Given the description of an element on the screen output the (x, y) to click on. 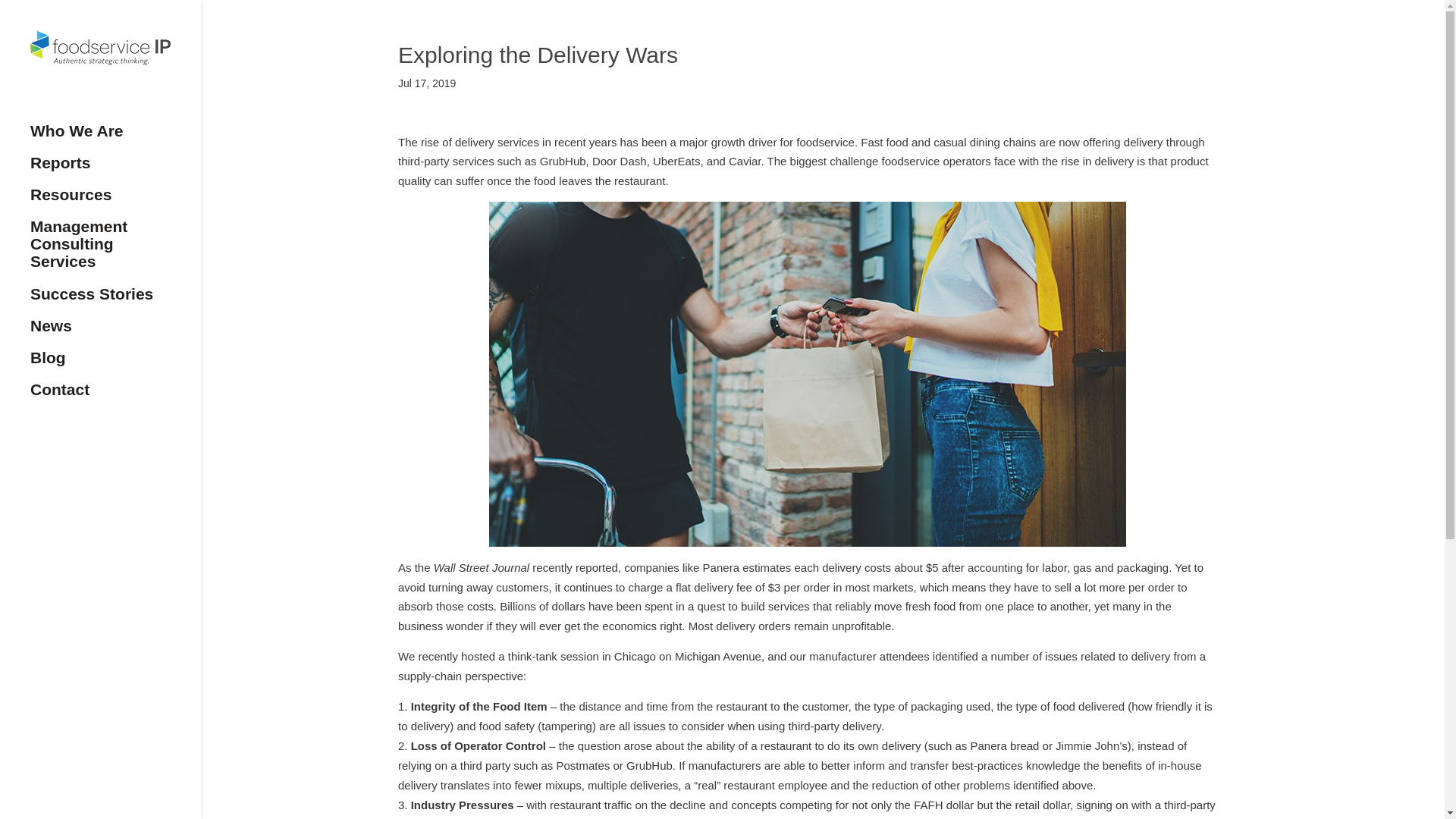
News (115, 332)
Reports (115, 169)
Blog (115, 364)
Resources (115, 201)
Management Consulting Services (115, 250)
Contact (115, 396)
Who We Are (115, 137)
Success Stories (115, 300)
